Given the description of an element on the screen output the (x, y) to click on. 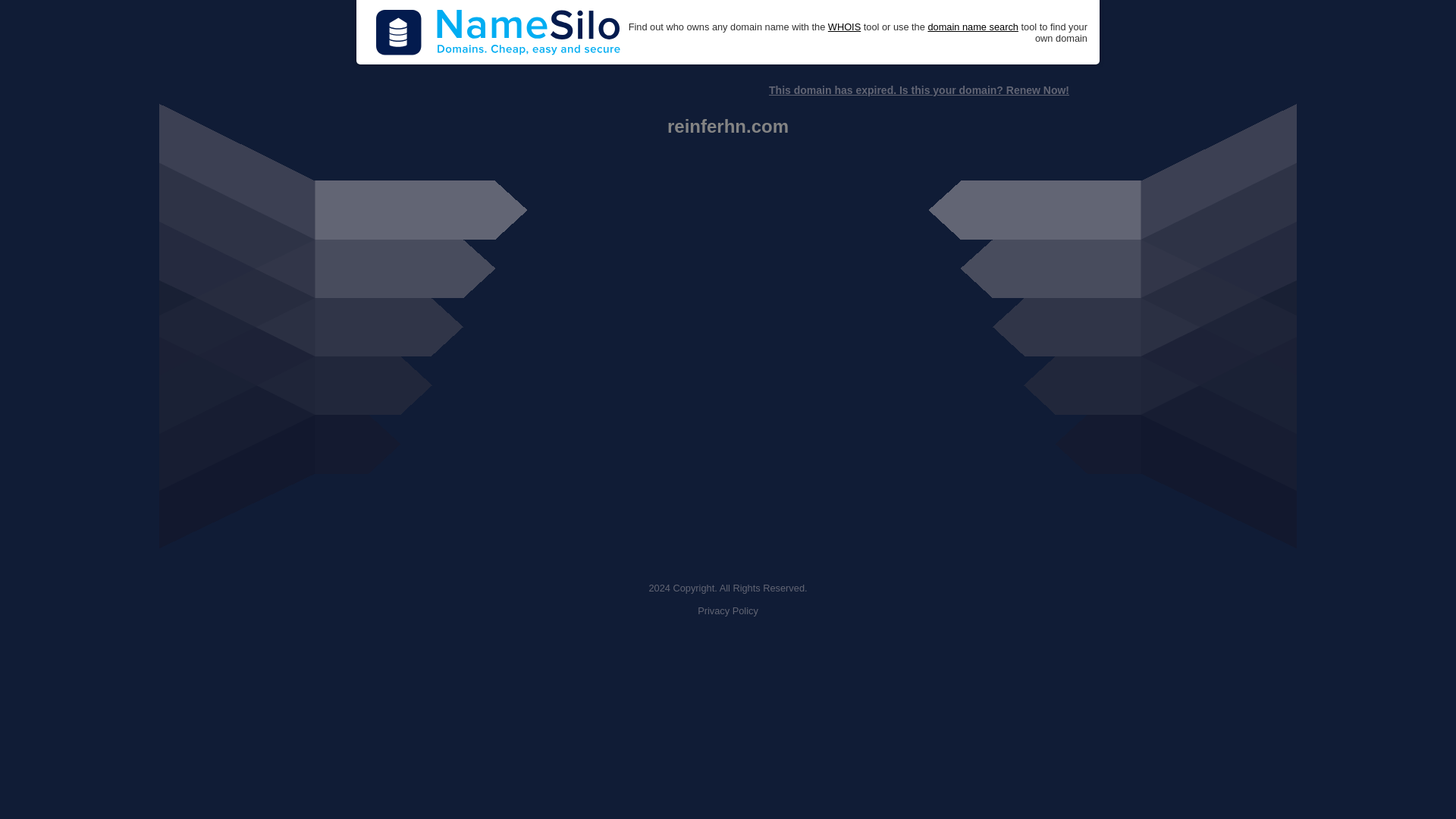
This domain has expired. Is this your domain? Renew Now! (918, 90)
WHOIS (844, 26)
domain name search (972, 26)
Privacy Policy (727, 610)
